Given the description of an element on the screen output the (x, y) to click on. 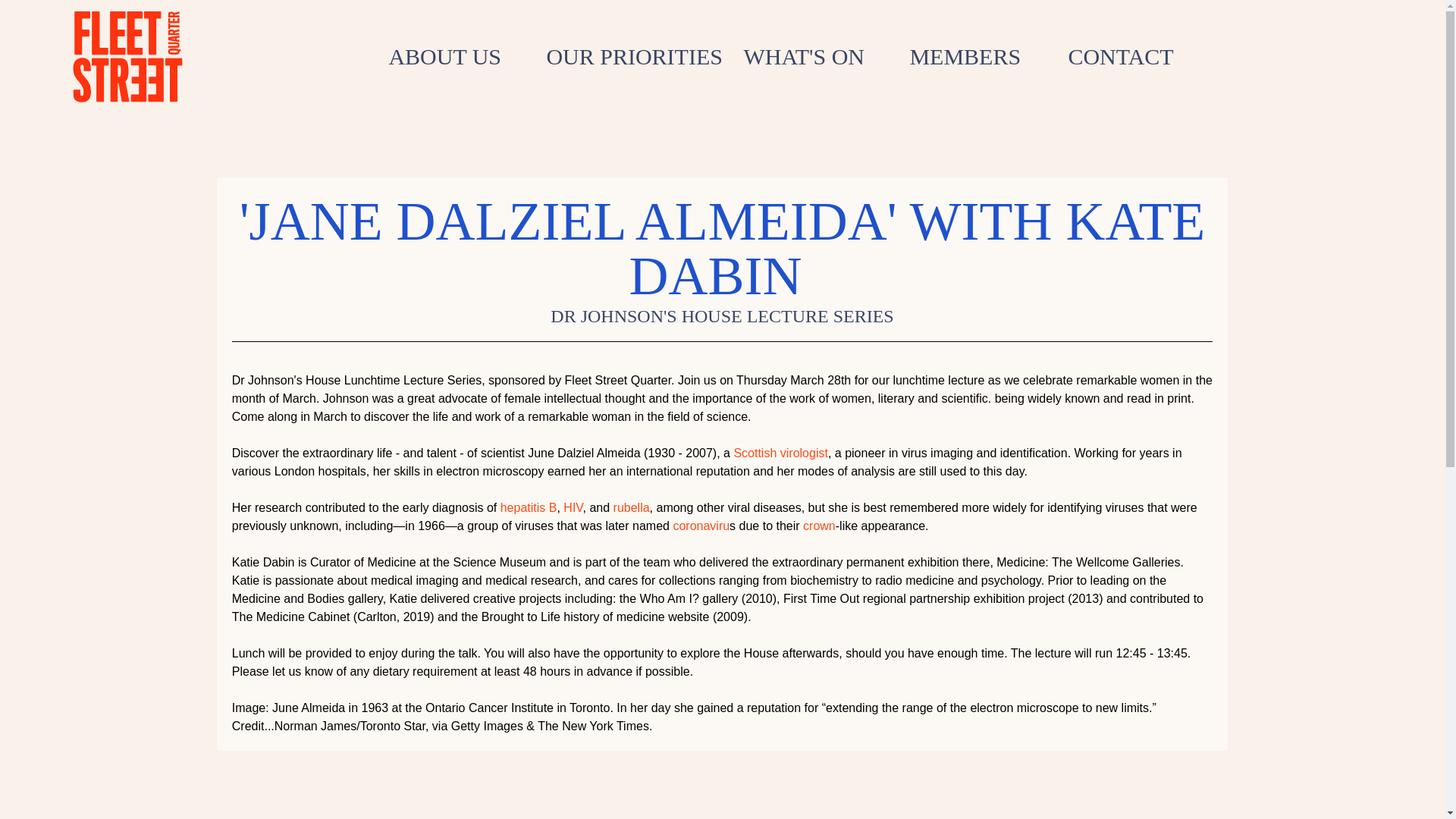
HIV (572, 507)
Scottish (754, 452)
CONTACT (1132, 56)
WHAT'S ON (815, 56)
crown (819, 525)
virologist (804, 452)
rubella (630, 507)
OUR PRIORITIES (633, 56)
MEMBERS (977, 56)
ABOUT US (455, 56)
coronaviru (700, 525)
hepatitis B (528, 507)
